Given the description of an element on the screen output the (x, y) to click on. 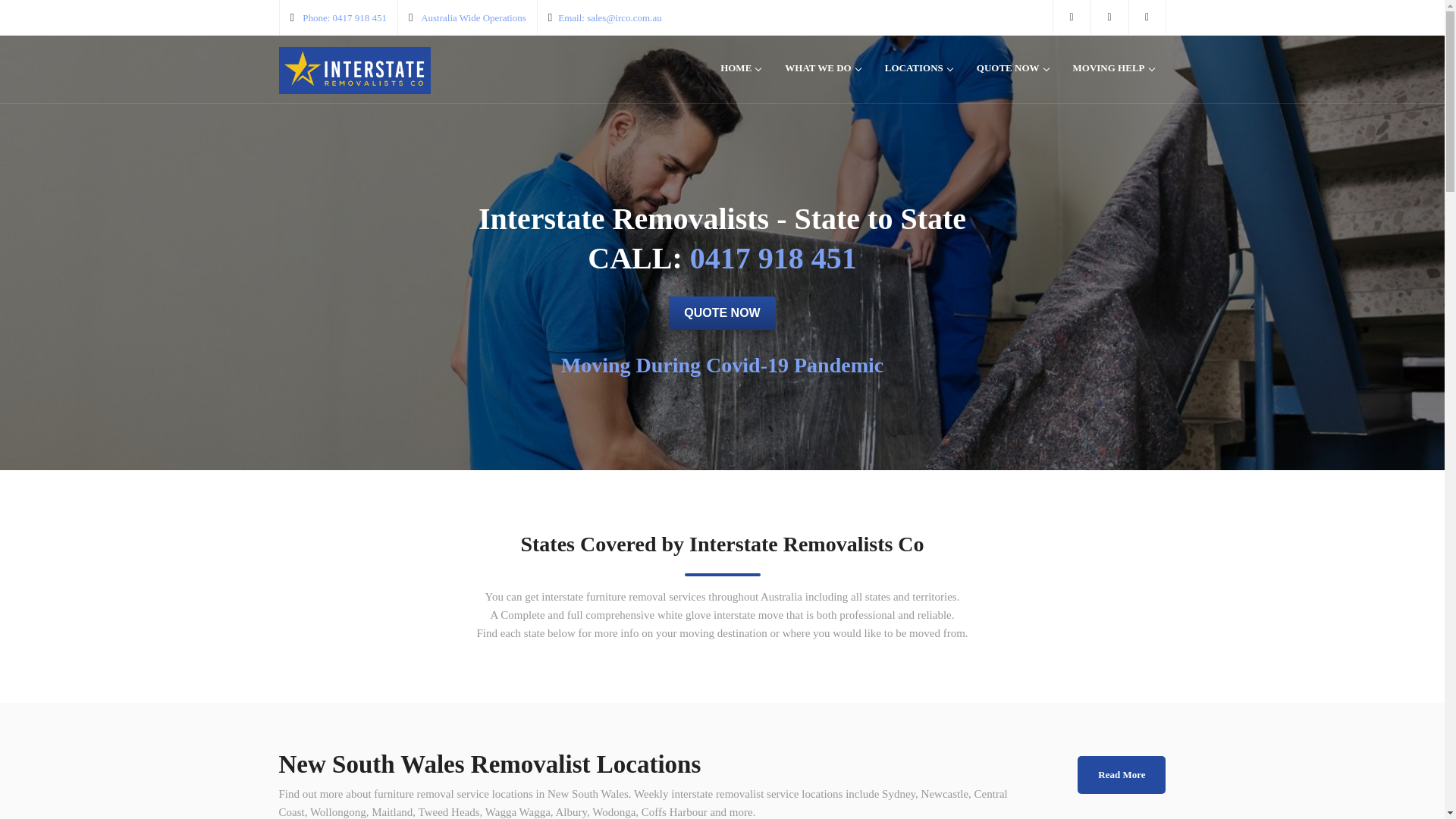
HOME (740, 72)
WHAT WE DO (822, 72)
LOCATIONS (917, 72)
Australia Wide Operations (472, 17)
Phone: 0417 918 451 (344, 17)
